Given the description of an element on the screen output the (x, y) to click on. 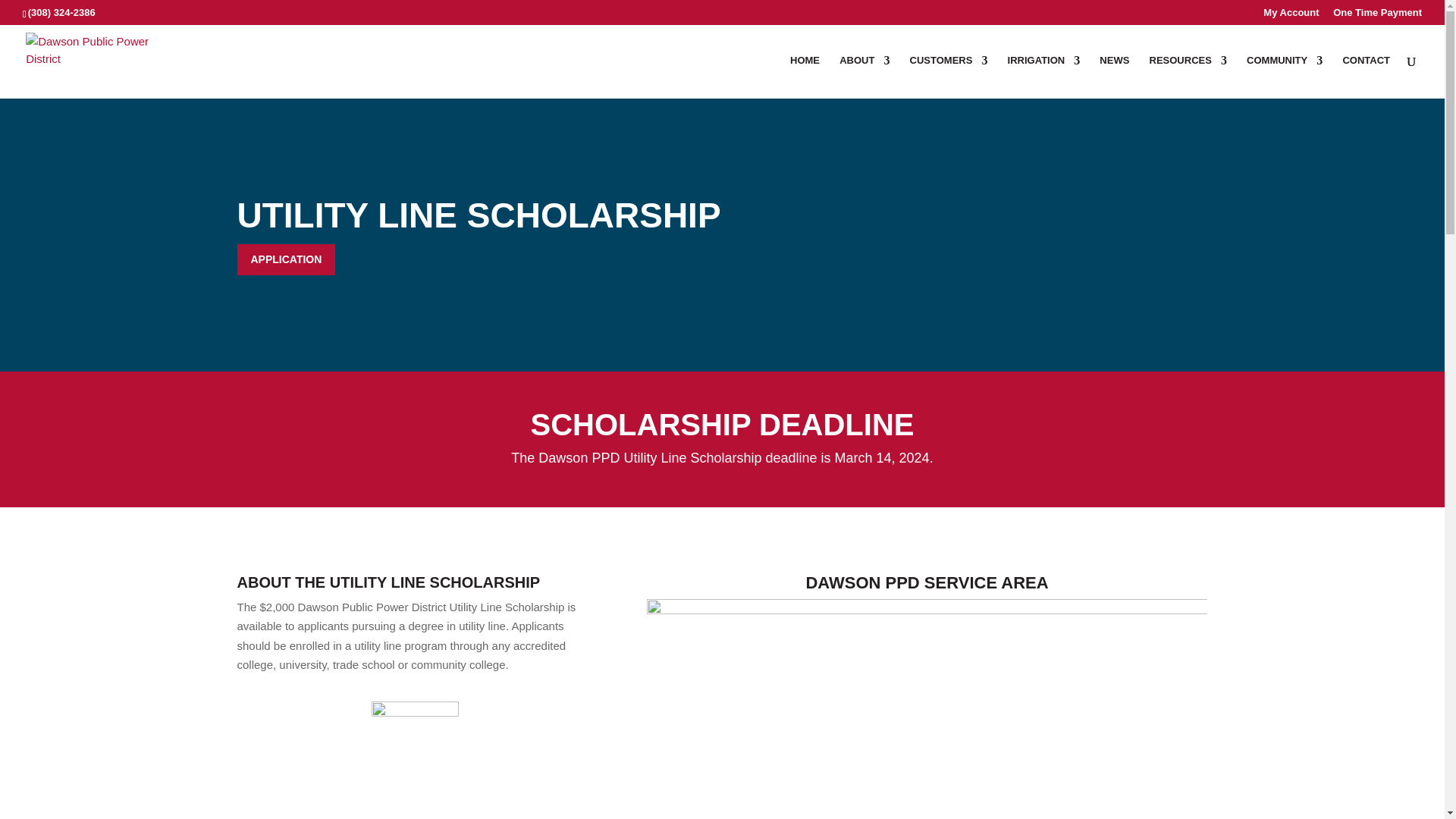
IRRIGATION (1043, 76)
CUSTOMERS (949, 76)
dawsonservicearea (927, 708)
RESOURCES (1188, 76)
My Account (1291, 16)
COMMUNITY (1284, 76)
ABOUT (864, 76)
One Time Payment (1377, 16)
